Given the description of an element on the screen output the (x, y) to click on. 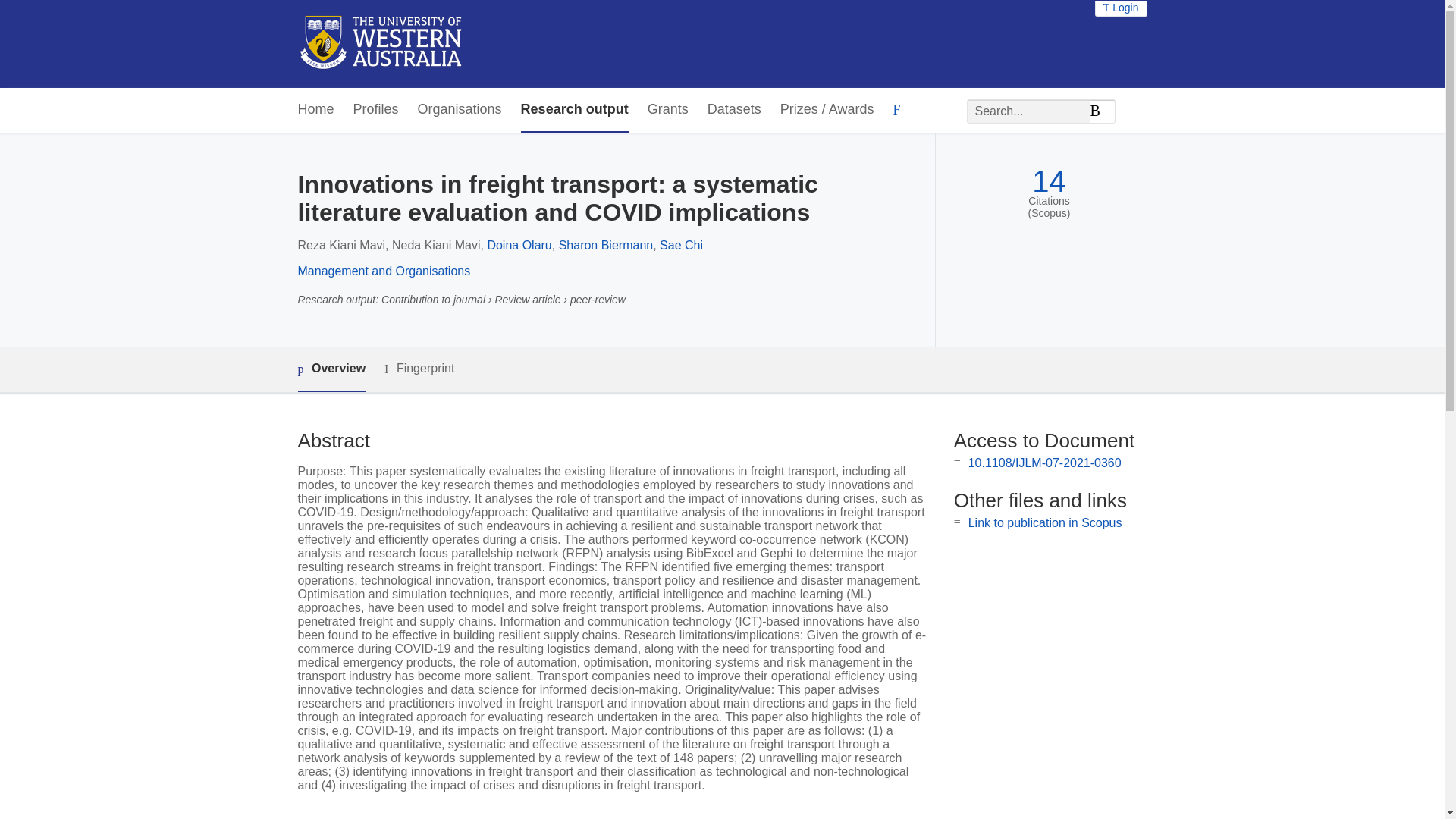
Sae Chi (681, 245)
14 (1048, 181)
Login (1121, 7)
Profiles (375, 109)
Doina Olaru (518, 245)
Datasets (734, 109)
Management and Organisations (383, 270)
Sharon Biermann (606, 245)
Organisations (459, 109)
